Given the description of an element on the screen output the (x, y) to click on. 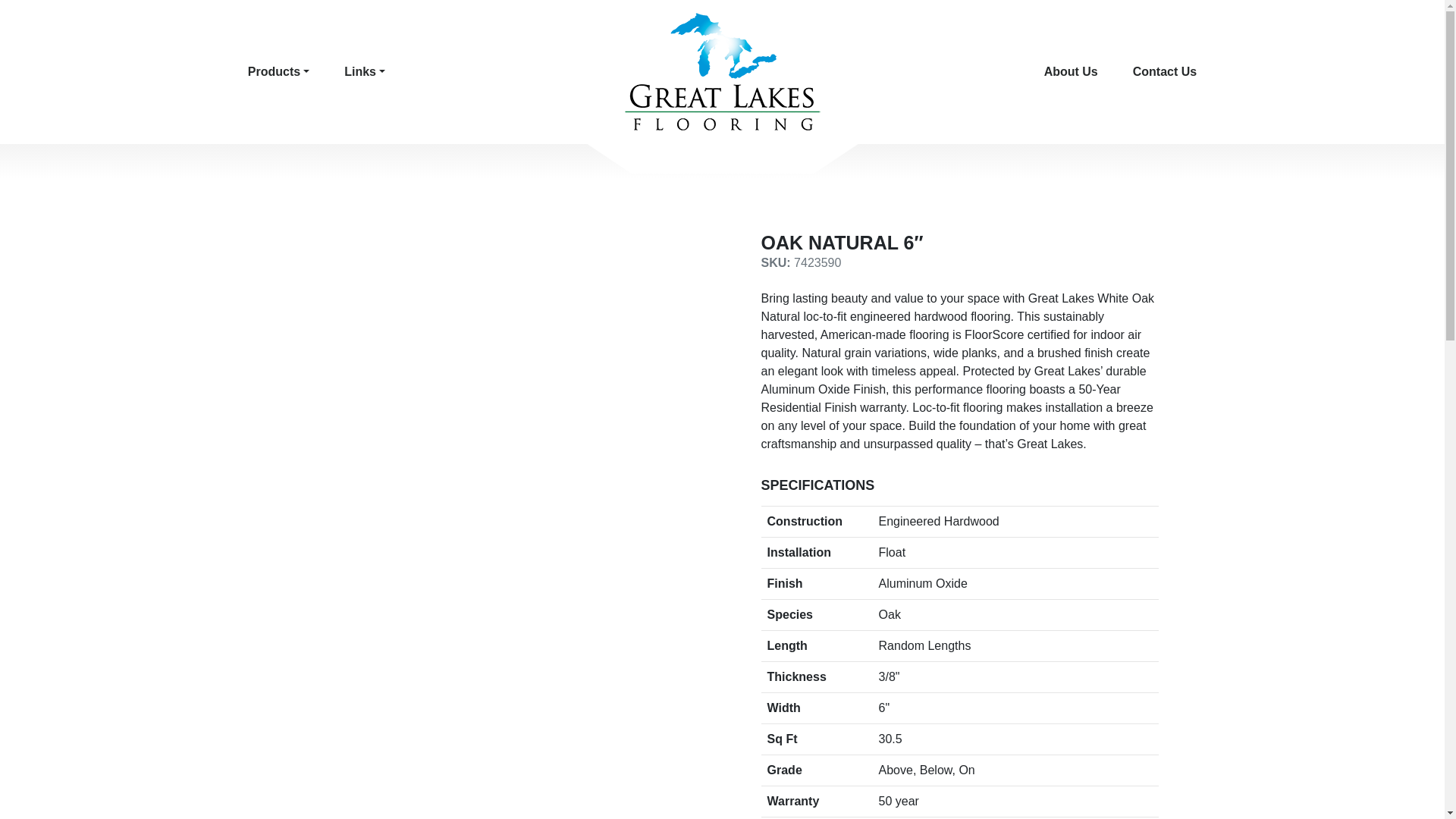
Contact Us (1164, 71)
Links (364, 71)
About Us (1070, 71)
About Us (1070, 71)
Links (364, 71)
Products (278, 71)
Contact Us (1164, 71)
Products (278, 71)
